Given the description of an element on the screen output the (x, y) to click on. 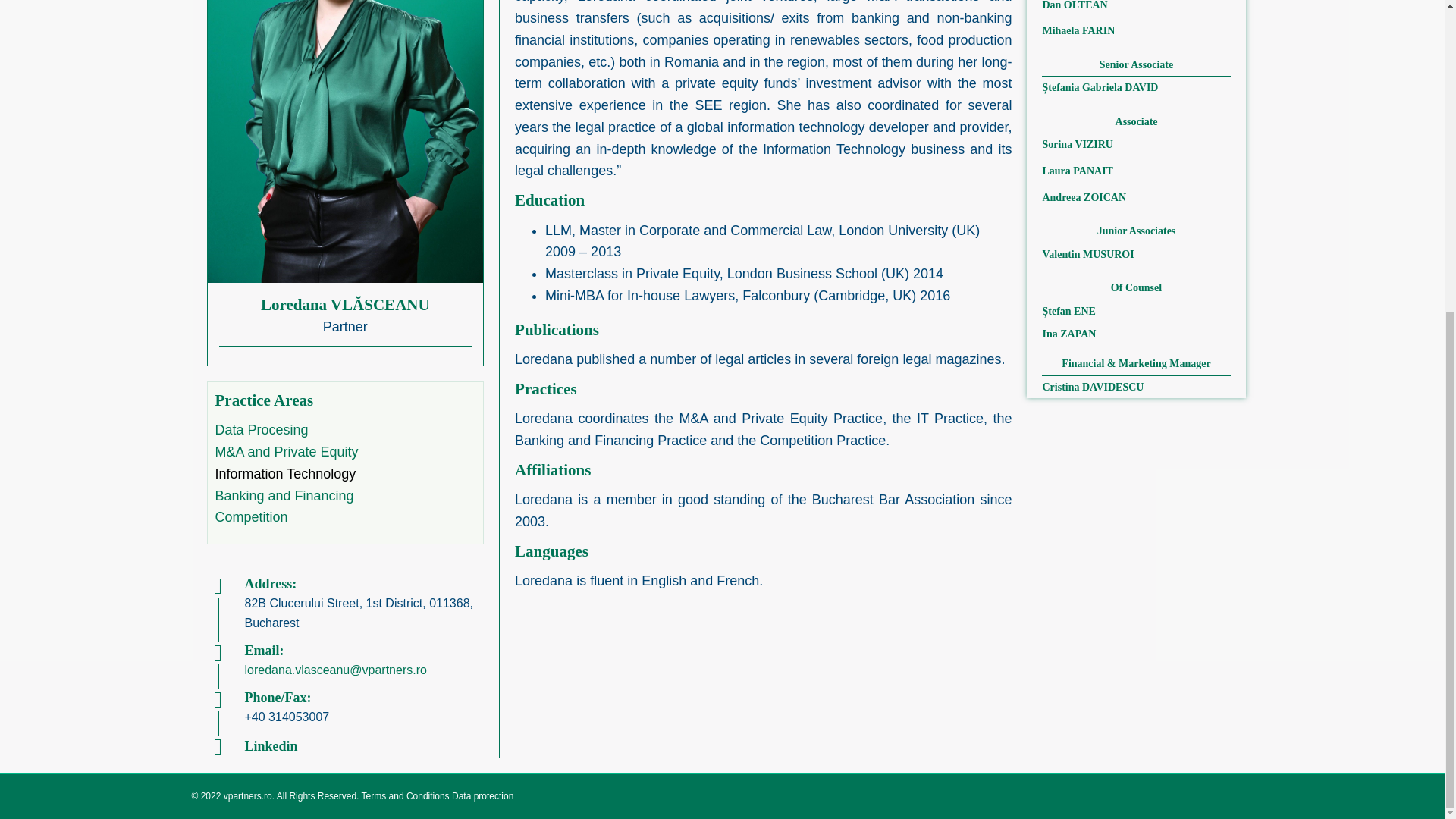
Poza Loredana Vlasceanu (345, 141)
Laura PANAIT (1077, 170)
Cristina DAVIDESCU (1092, 387)
Ina ZAPAN (1069, 333)
Andreea ZOICAN (1083, 197)
Mihaela FARIN (1078, 30)
Dan OLTEAN (1074, 5)
Sorina VIZIRU (1077, 143)
Valentin MUSUROI (1088, 254)
